Given the description of an element on the screen output the (x, y) to click on. 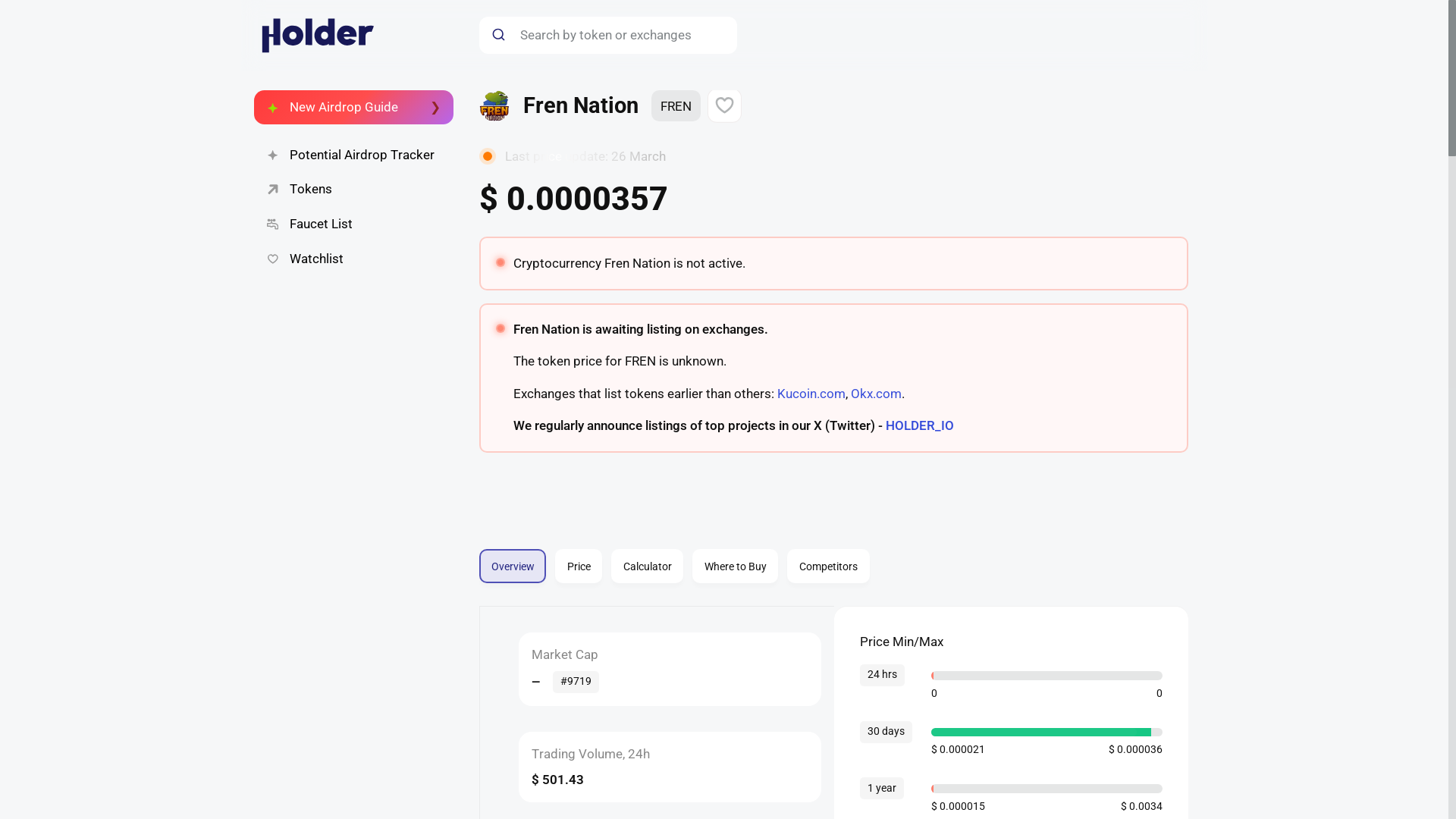
frennation.lol (528, 557)
Competitors (828, 565)
Faucet List (352, 224)
Where to Buy (833, 555)
Fren Nation is ranked 9719 in total market cap (735, 565)
Overview (575, 681)
Watchlist (512, 565)
Kucoin.com (352, 258)
Tokens (810, 393)
Okx.com (833, 566)
Calculator (352, 189)
Price (875, 393)
New Airdrop Guide (646, 565)
